Given the description of an element on the screen output the (x, y) to click on. 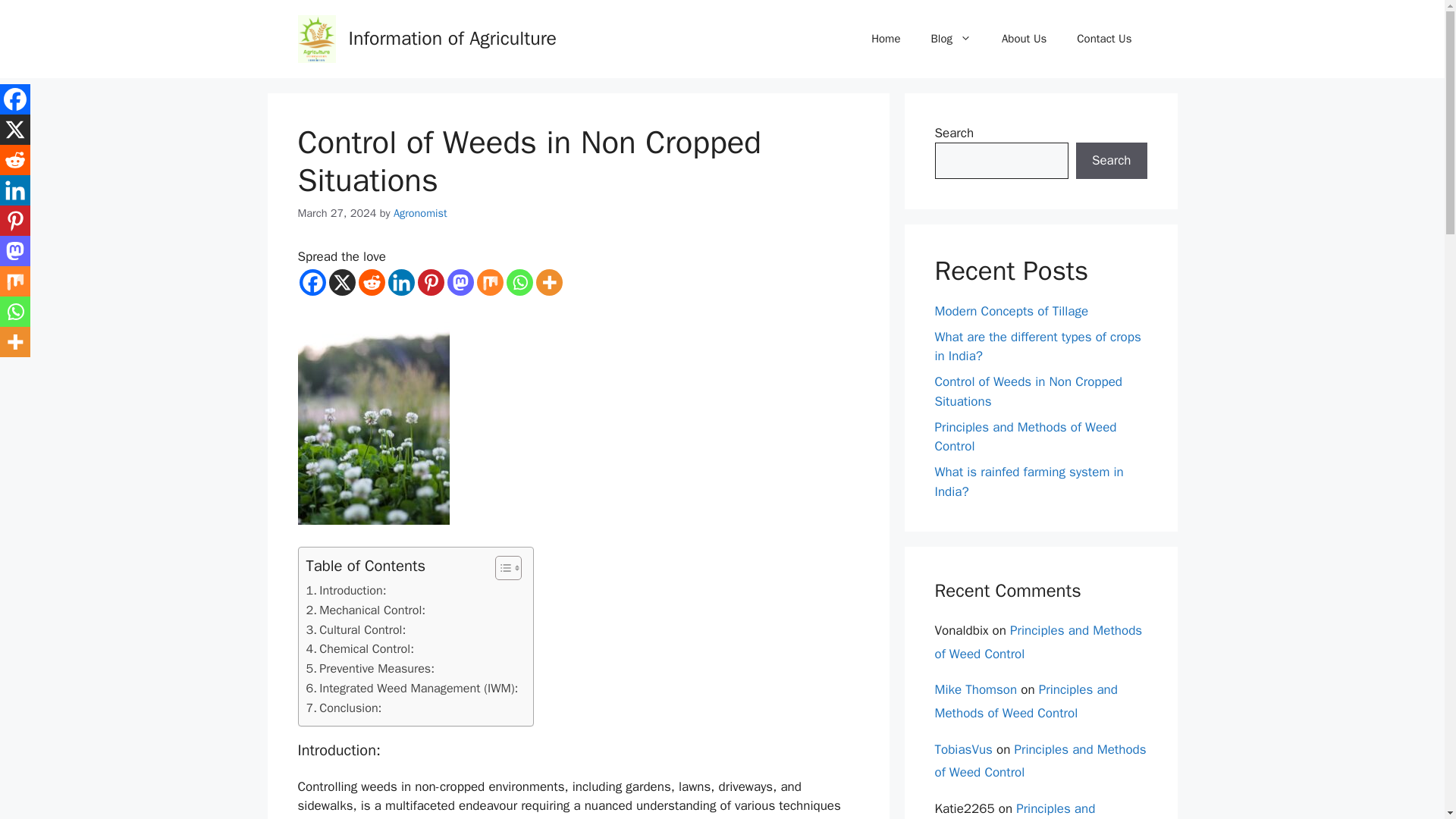
Information of Agriculture (453, 37)
About Us (1024, 38)
Cultural Control: (355, 629)
Mechanical Control: (365, 609)
Introduction: (346, 590)
More (548, 282)
Mix (489, 282)
Conclusion: (343, 708)
Contact Us (1104, 38)
Mastodon (460, 282)
View all posts by Agronomist (419, 213)
Pinterest (430, 282)
Reddit (371, 282)
Mechanical Control: (365, 609)
Agronomist (419, 213)
